Given the description of an element on the screen output the (x, y) to click on. 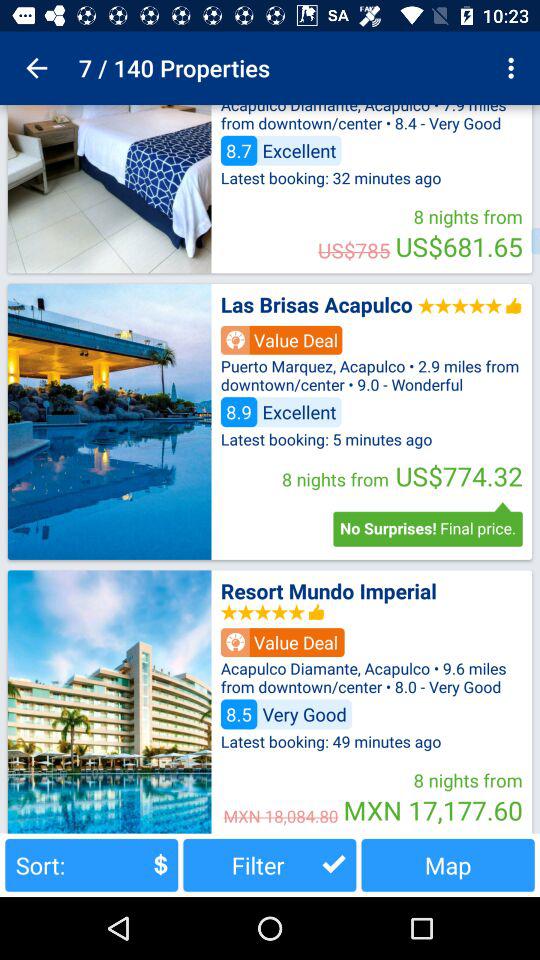
resort photo (109, 701)
